Given the description of an element on the screen output the (x, y) to click on. 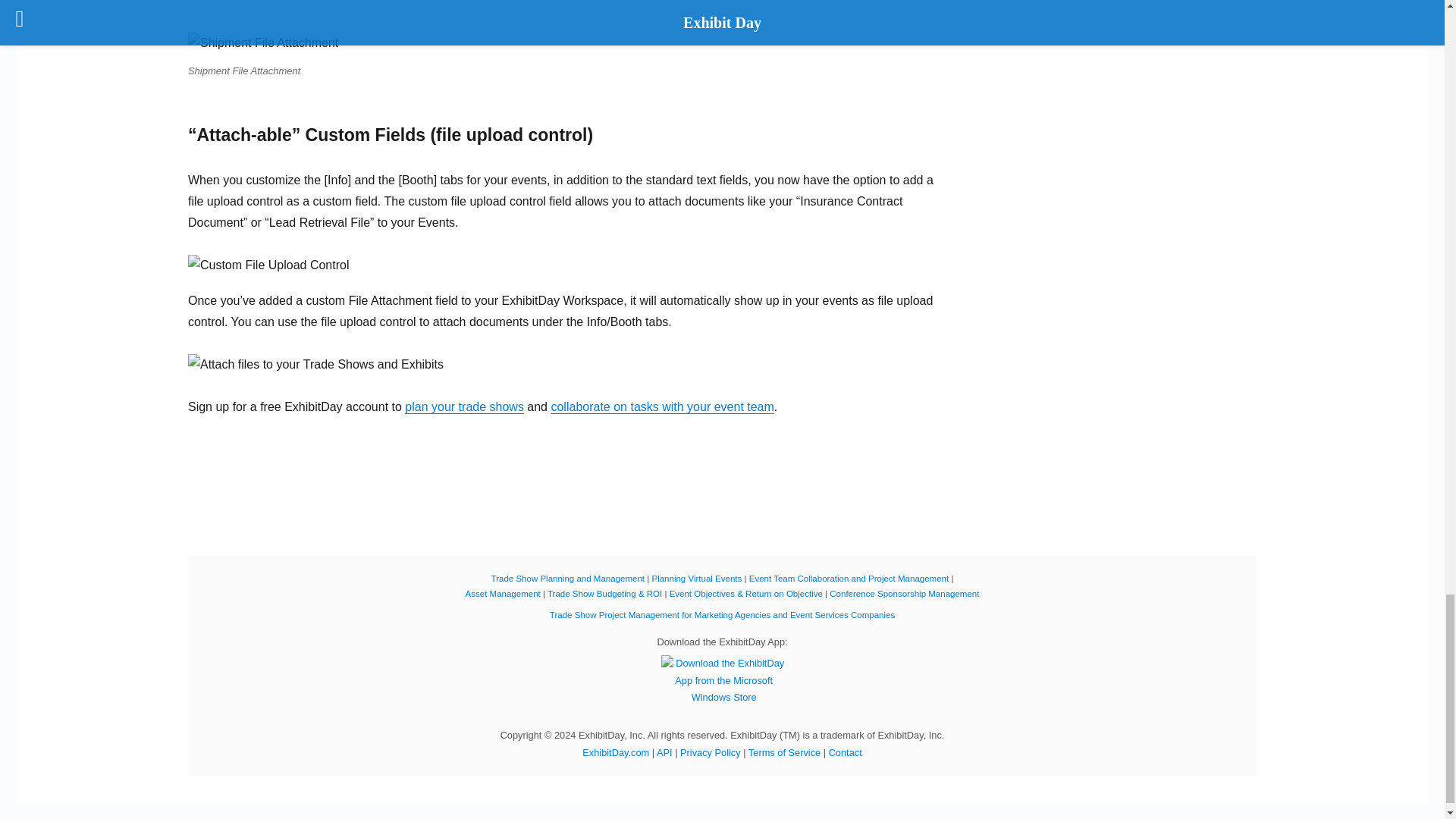
Event Team Collaboration and Project Management (849, 578)
Manage Inventory for your Trade Shows and Exhibits (502, 593)
plan your trade shows (464, 406)
Digital Event Planning (695, 578)
collaborate on tasks with your event team (661, 406)
Trade Show Planning (568, 578)
